Given the description of an element on the screen output the (x, y) to click on. 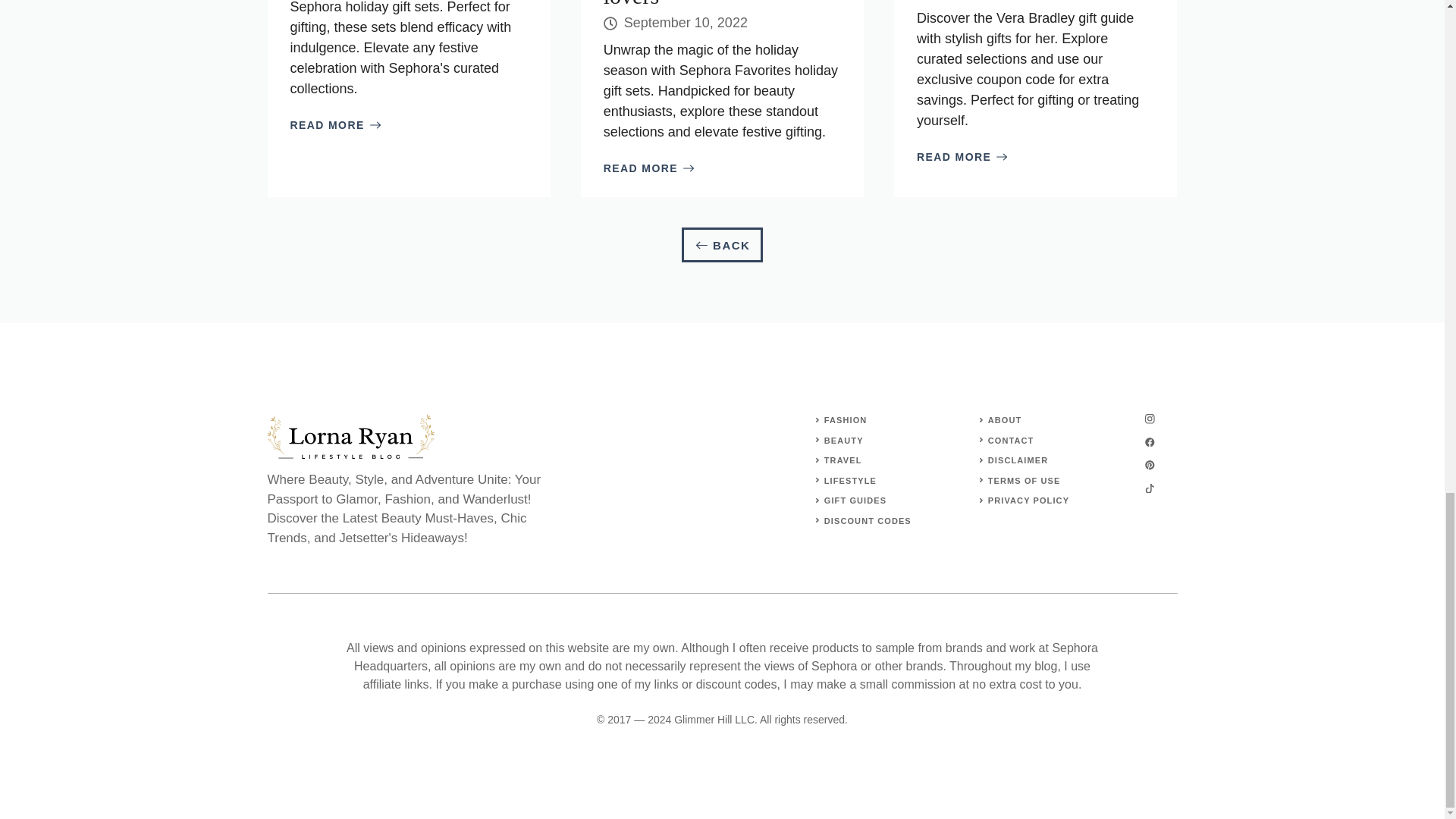
BACK (721, 244)
BEAUTY (843, 440)
READ MORE (649, 168)
FASHION (845, 420)
lorna-ryan-new-logo (349, 436)
LIFESTYLE (850, 480)
DISCOUNT CODES (867, 520)
READ MORE (962, 157)
GIFT GUIDES (855, 500)
READ MORE (334, 125)
TRAVEL (842, 460)
